Given the description of an element on the screen output the (x, y) to click on. 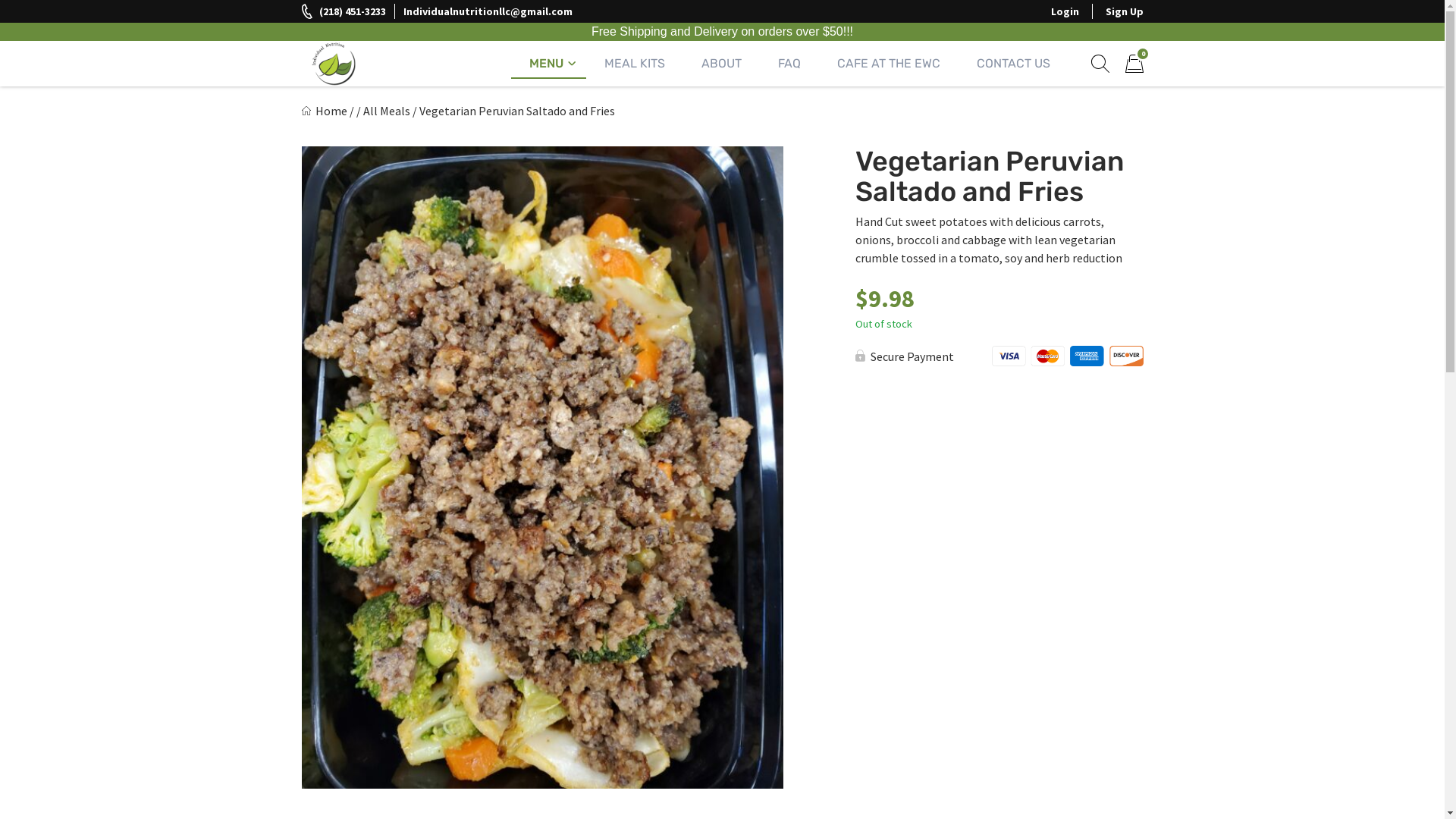
CAFE AT THE EWC Element type: text (888, 63)
0
Items in cart Element type: text (1133, 63)
FAQ Element type: text (789, 63)
CONTACT US Element type: text (1013, 63)
20220326_080602 Element type: hover (542, 467)
Sign Up Element type: text (1123, 11)
MEAL KITS Element type: text (633, 63)
(218) 451-3233 Element type: text (343, 10)
Show search form Element type: text (1100, 62)
Home Element type: text (324, 110)
Individualnutritionllc@gmail.com Element type: text (487, 10)
All Meals Element type: text (385, 110)
MENU Element type: text (548, 63)
Login Element type: text (1064, 11)
ABOUT Element type: text (720, 63)
